Given the description of an element on the screen output the (x, y) to click on. 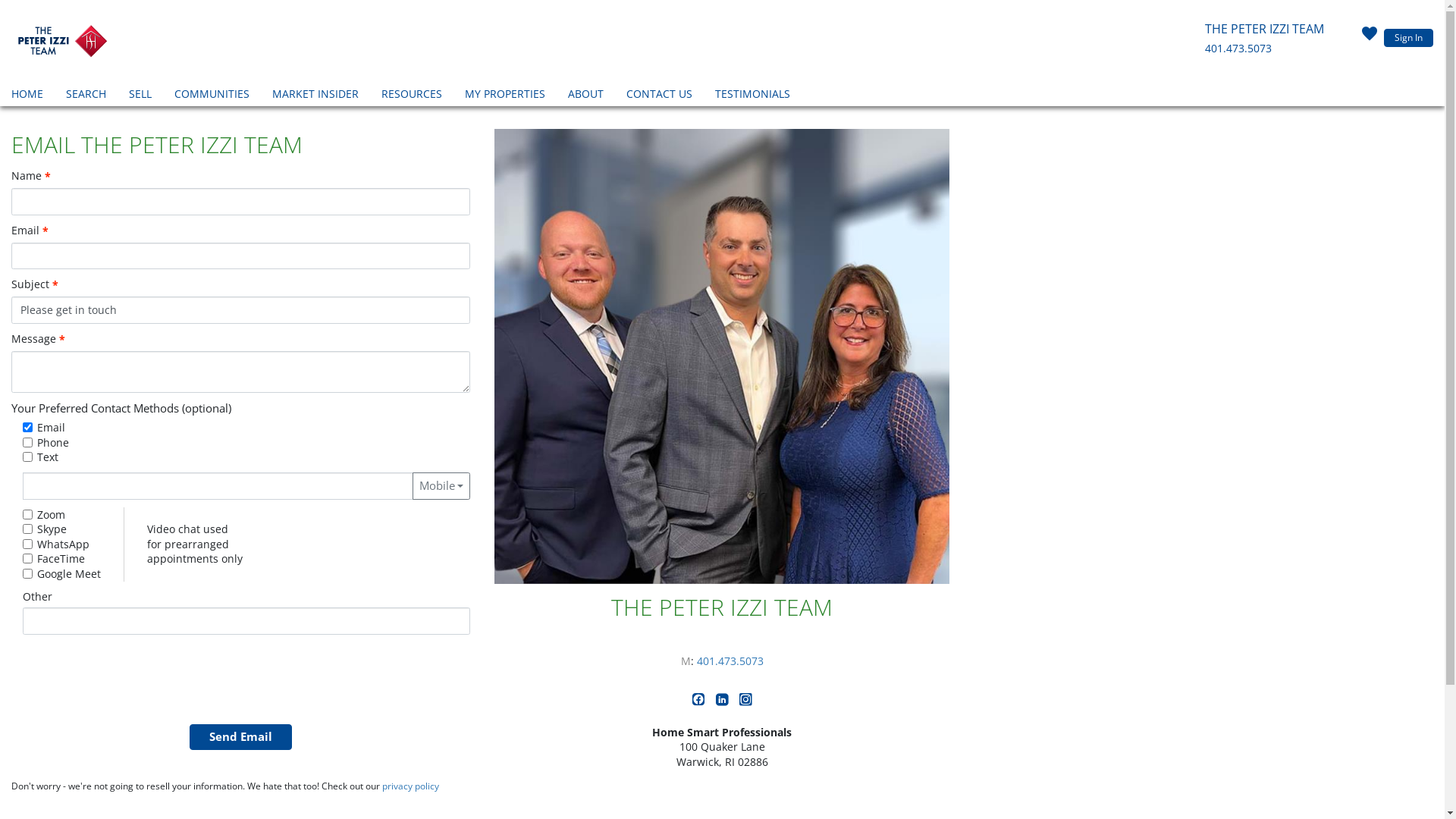
ABOUT Element type: text (585, 95)
HOME Element type: text (27, 95)
MARKET INSIDER Element type: text (315, 95)
LinkedIn Element type: hover (723, 701)
RESOURCES Element type: text (411, 95)
Instagram Element type: hover (745, 701)
401.473.5073 Element type: text (1237, 47)
SELL Element type: text (140, 95)
COMMUNITIES Element type: text (211, 95)
SEARCH Element type: text (85, 95)
Sign In Element type: text (1408, 37)
Facebook Element type: hover (700, 701)
401.473.5073 Element type: text (729, 660)
TESTIMONIALS Element type: text (752, 95)
privacy policy Element type: text (410, 785)
Send Email Element type: text (240, 736)
Mobile Element type: text (441, 485)
CONTACT US Element type: text (659, 95)
Click here to sign in Element type: hover (1369, 37)
MY PROPERTIES Element type: text (505, 95)
